Given the description of an element on the screen output the (x, y) to click on. 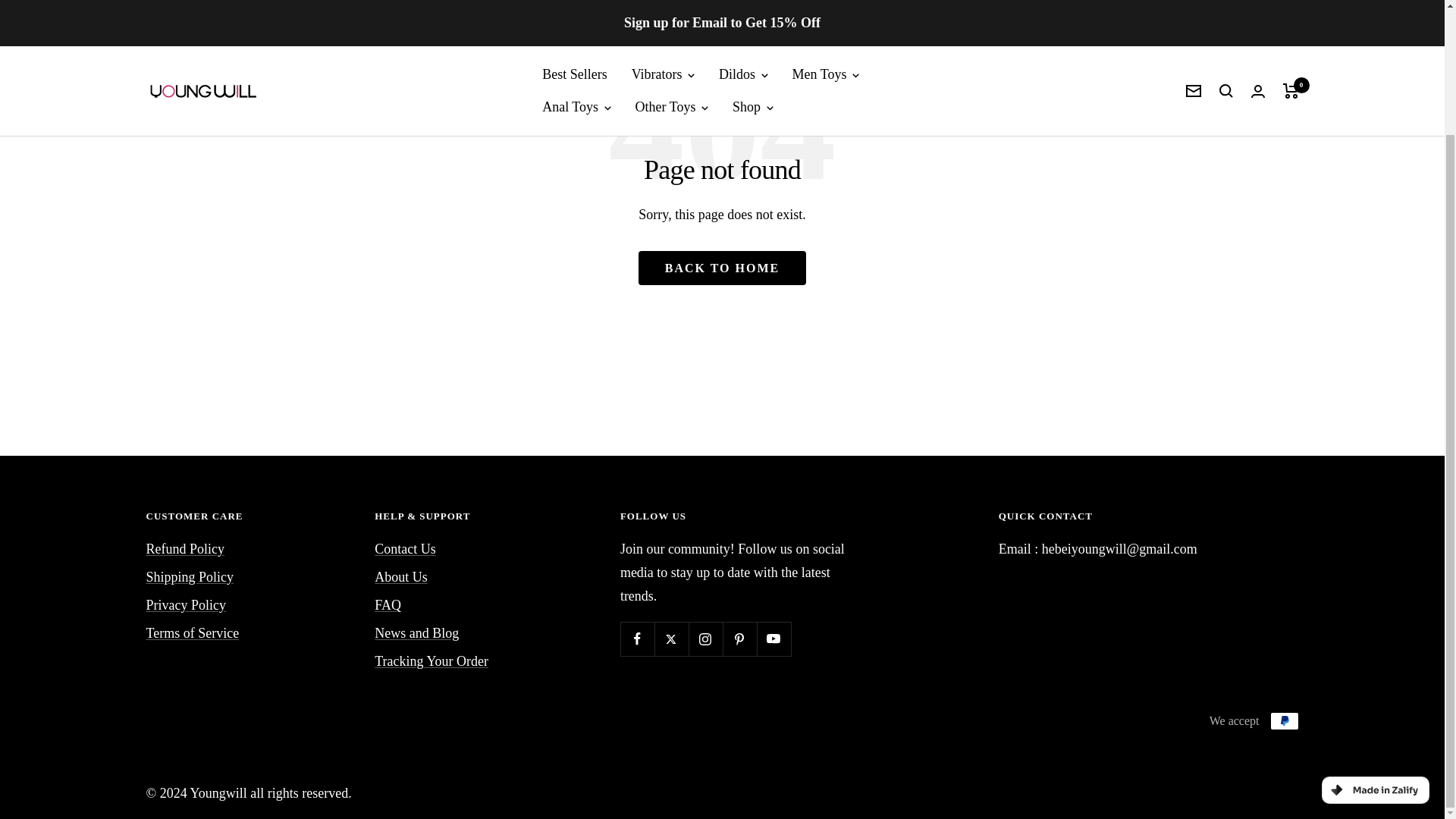
BACK TO HOME (722, 267)
Shopify online store chat (1383, 552)
Contact Us (404, 549)
FAQ (387, 605)
News and Blog (416, 633)
Terms of Service (191, 633)
Refund Policy (184, 549)
About Us (401, 576)
Privacy Policy (185, 605)
Shipping Policy (188, 576)
